Given the description of an element on the screen output the (x, y) to click on. 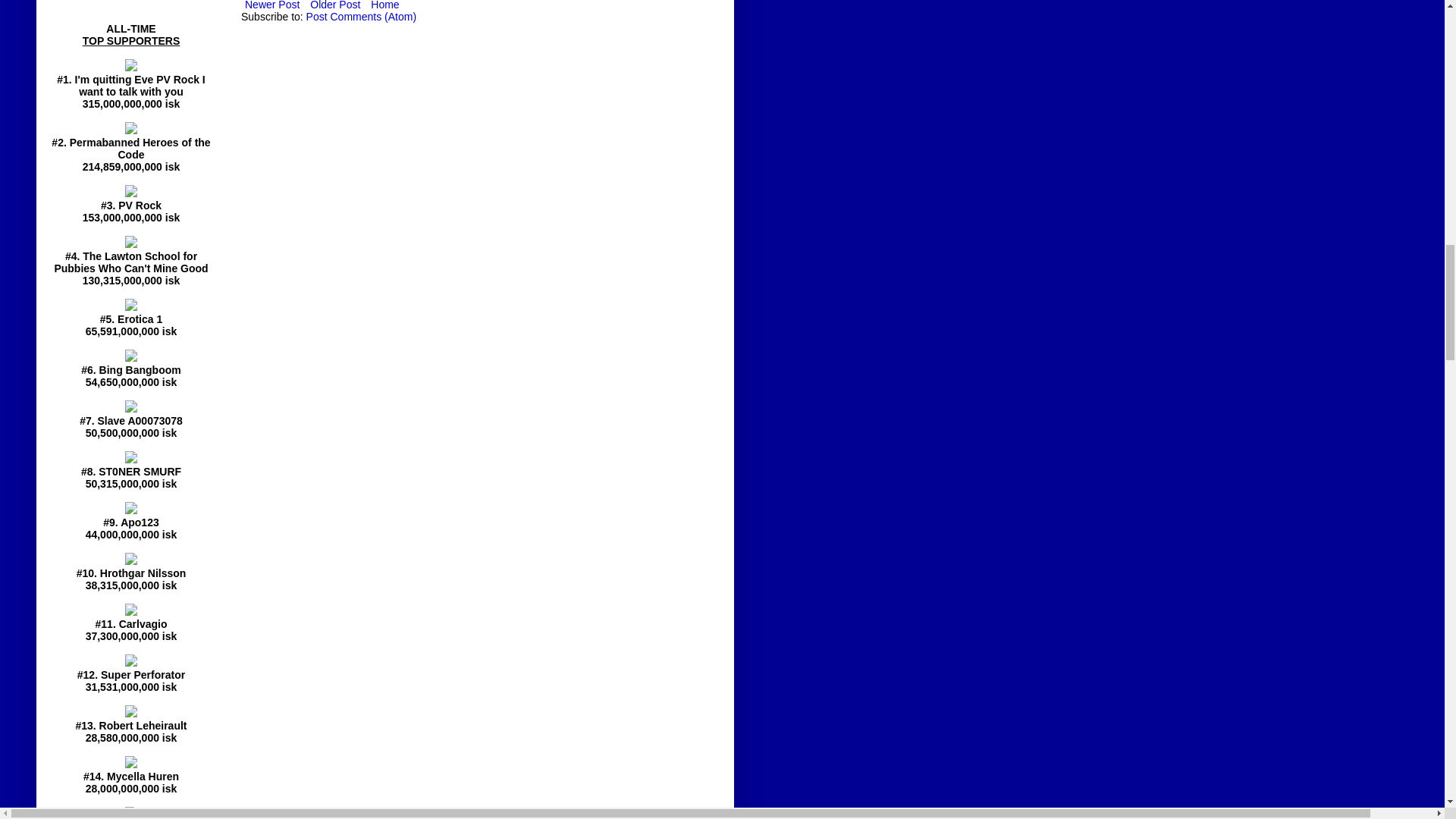
Newer Post (271, 7)
Older Post (334, 7)
